Given the description of an element on the screen output the (x, y) to click on. 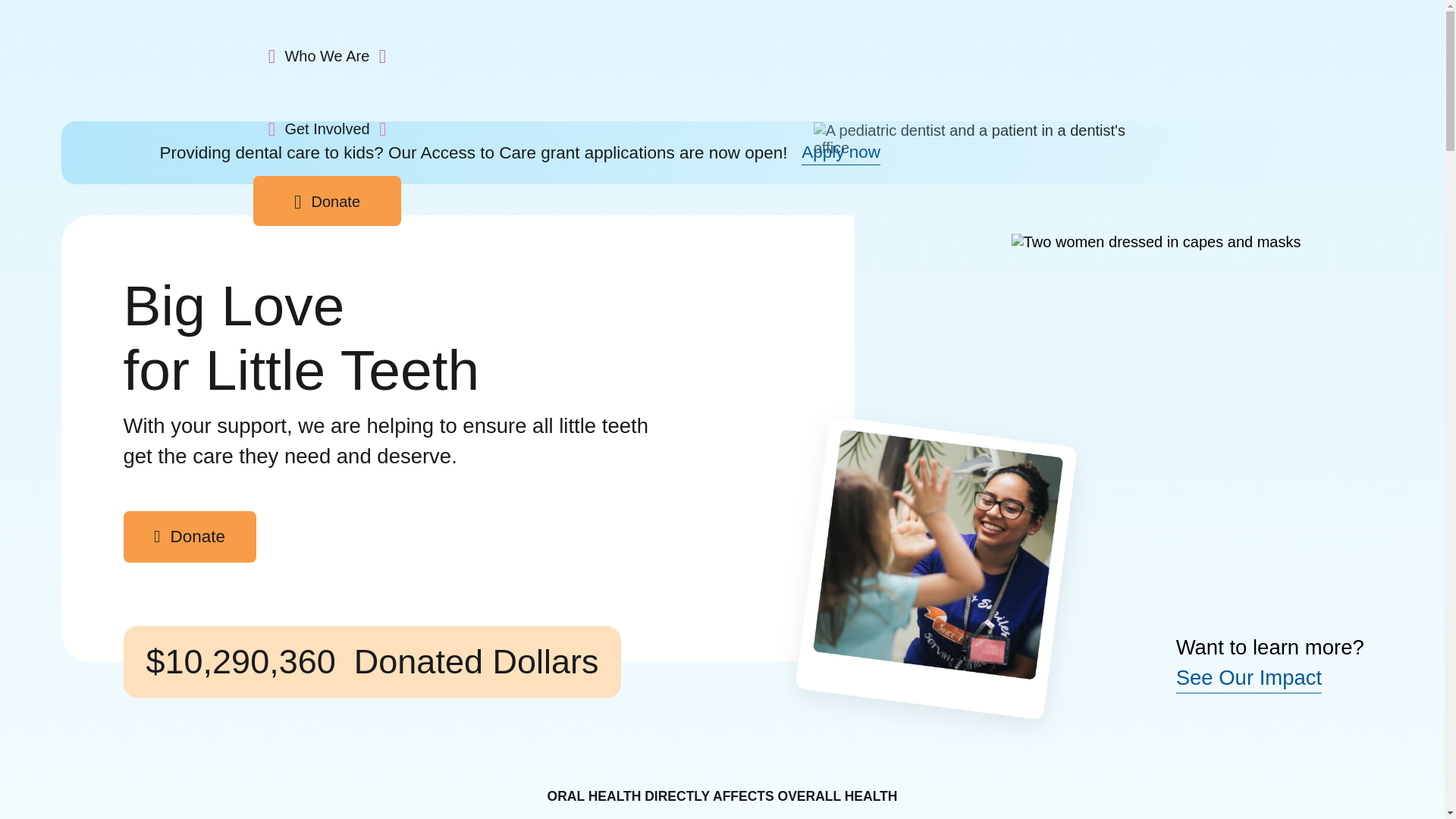
See Our Impact (1249, 678)
Apply now (841, 153)
Donate (327, 201)
Donate (189, 536)
Get Involved (327, 128)
AAPD Foundation (189, 45)
Who We Are (327, 55)
